Given the description of an element on the screen output the (x, y) to click on. 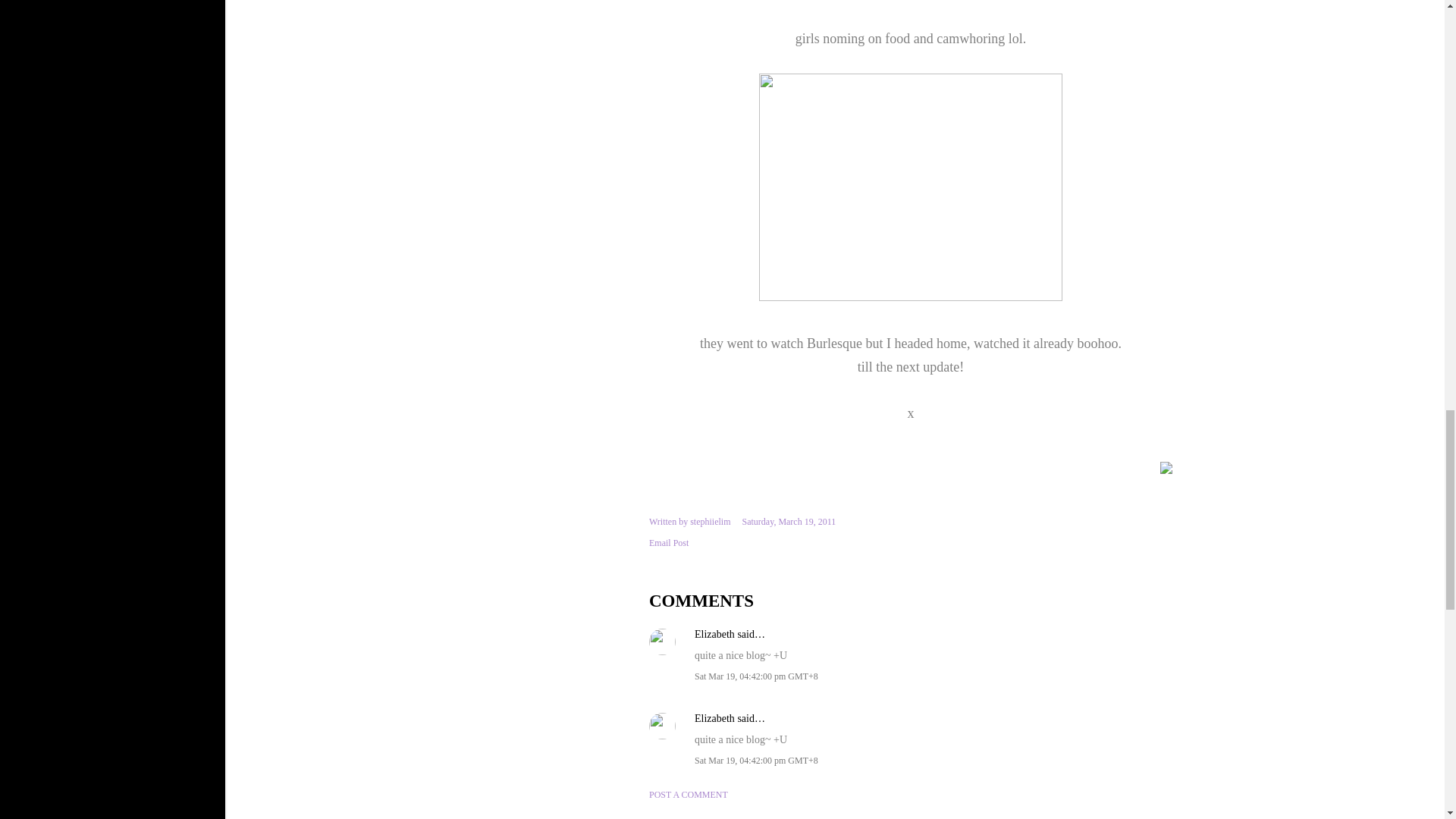
comment permalink (756, 675)
Elizabeth (714, 717)
permanent link (788, 521)
stephiielim (710, 521)
Email Post (668, 543)
author profile (710, 521)
POST A COMMENT (688, 794)
Saturday, March 19, 2011 (788, 521)
Elizabeth (714, 633)
